Given the description of an element on the screen output the (x, y) to click on. 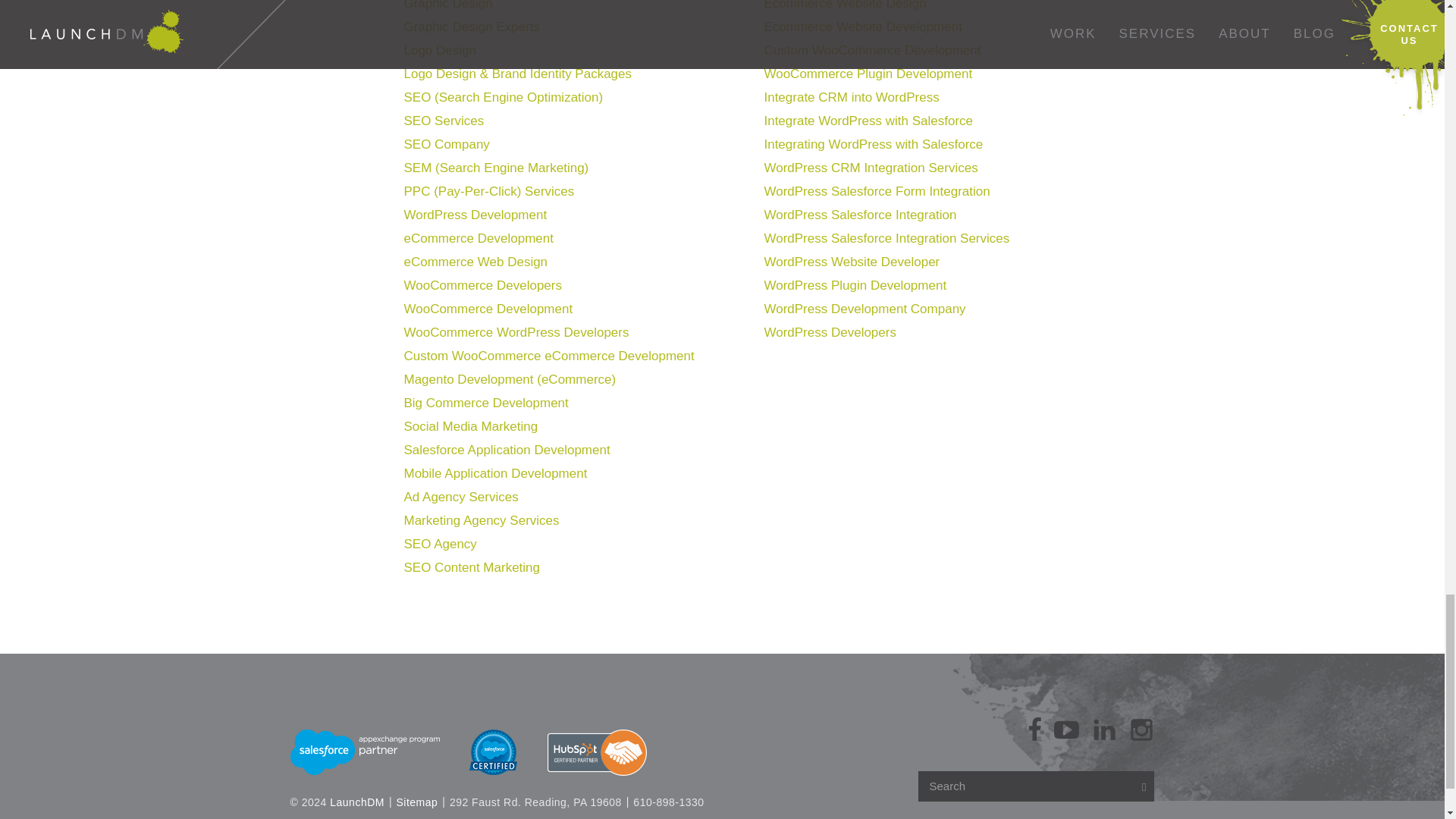
eCommerce Development (478, 237)
SEO Company (446, 144)
WooCommerce Developers (481, 285)
WordPress Development (475, 214)
Graphic Design Experts (471, 26)
WooCommerce Development (487, 309)
SEO Services (443, 120)
Custom WooCommerce eCommerce Development (548, 355)
Graphic Design (447, 5)
eCommerce Web Design (475, 261)
